Given the description of an element on the screen output the (x, y) to click on. 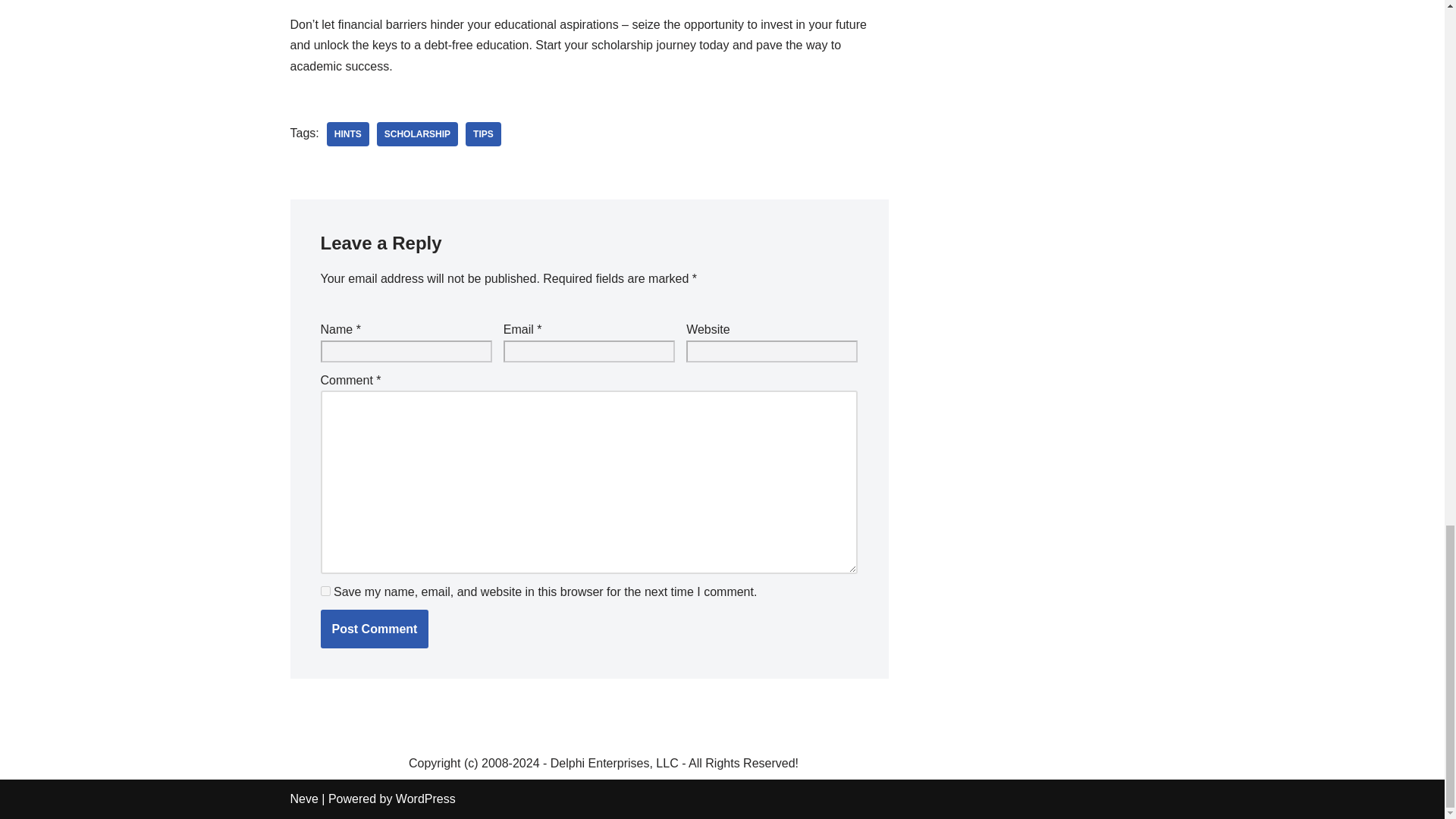
Post Comment (374, 629)
HINTS (347, 134)
Neve (303, 798)
TIPS (482, 134)
SCHOLARSHIP (417, 134)
Post Comment (374, 629)
yes (325, 591)
Delphi Enterprises, LLC (614, 762)
tips (482, 134)
scholarship (417, 134)
